Given the description of an element on the screen output the (x, y) to click on. 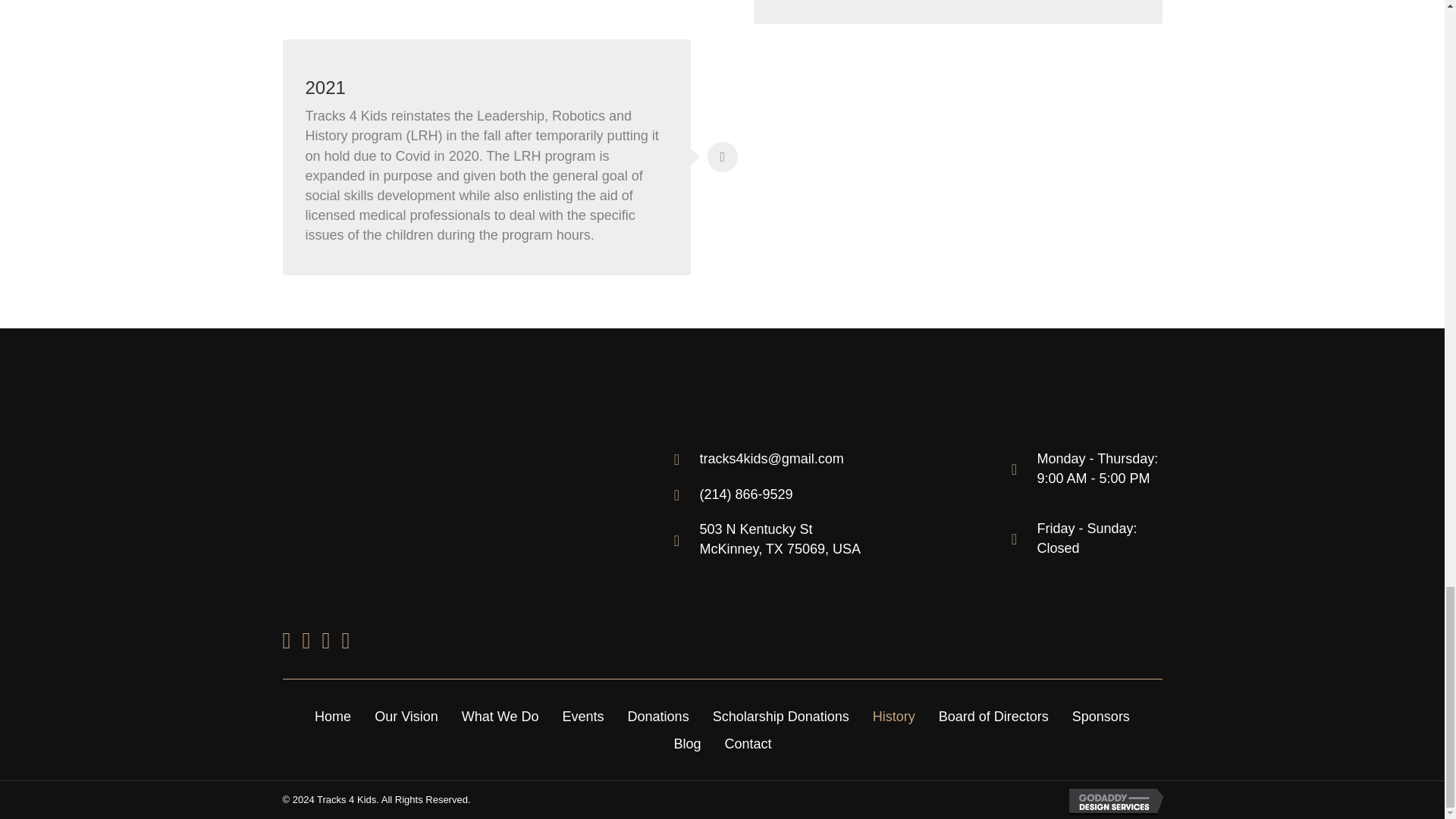
logo (403, 480)
History (893, 716)
Donations (657, 716)
Sponsors (1101, 716)
Events (583, 716)
Board of Directors (779, 538)
Home (993, 716)
Scholarship Donations (332, 716)
What We Do (780, 716)
